Given the description of an element on the screen output the (x, y) to click on. 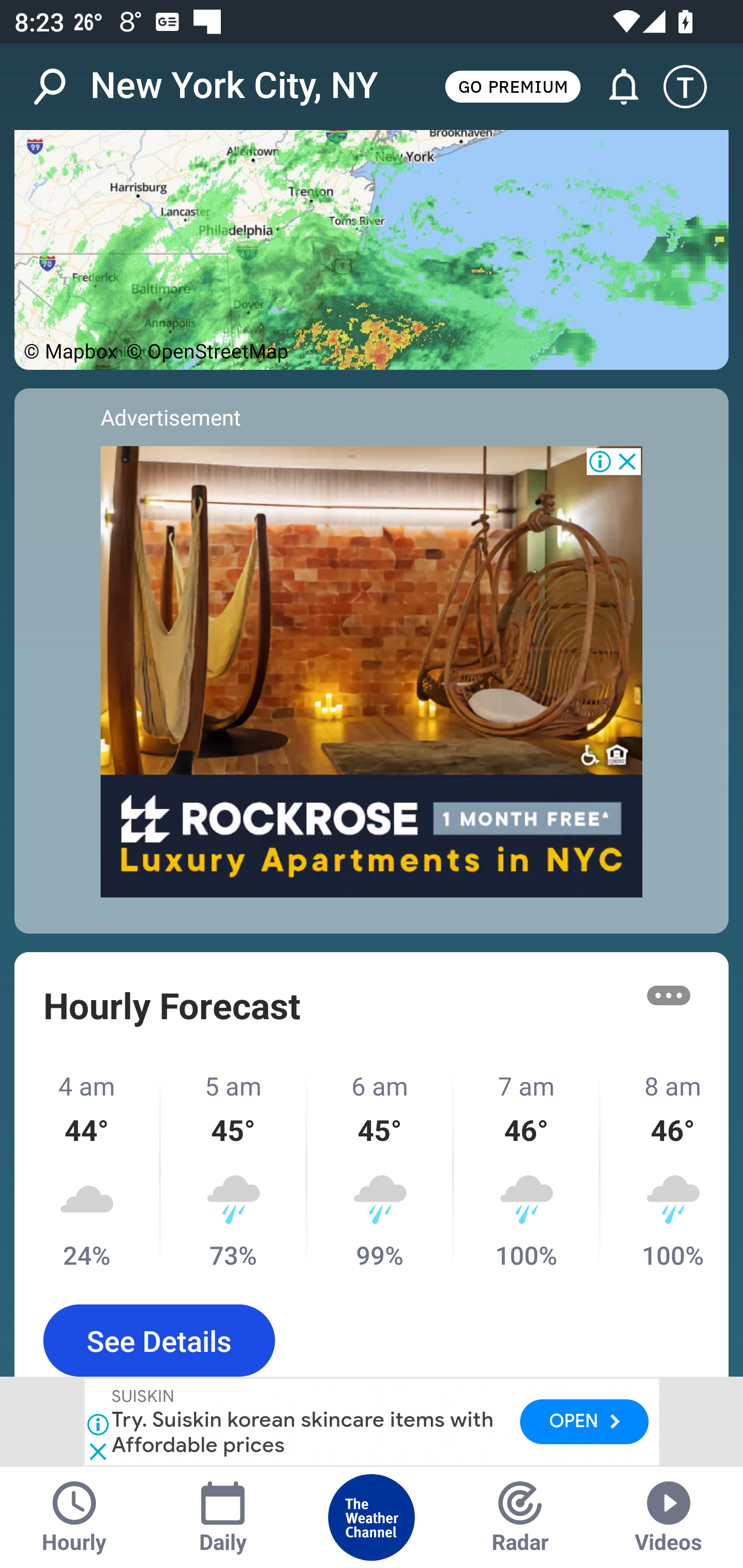
Search (59, 86)
Go to Alerts and Notifications (614, 86)
Setting icon T (694, 86)
New York City, NY (234, 85)
GO PREMIUM (512, 85)
See Map Details (371, 250)
More options (668, 994)
4 am 44° 24% (87, 1169)
5 am 45° 73% (234, 1169)
6 am 45° 99% (380, 1169)
7 am 46° 100% (526, 1169)
8 am 46° 100% (664, 1169)
See Details (158, 1340)
SUISKIN (143, 1397)
OPEN (584, 1421)
Hourly Tab Hourly (74, 1517)
Daily Tab Daily (222, 1517)
Radar Tab Radar (519, 1517)
Videos Tab Videos (668, 1517)
